Given the description of an element on the screen output the (x, y) to click on. 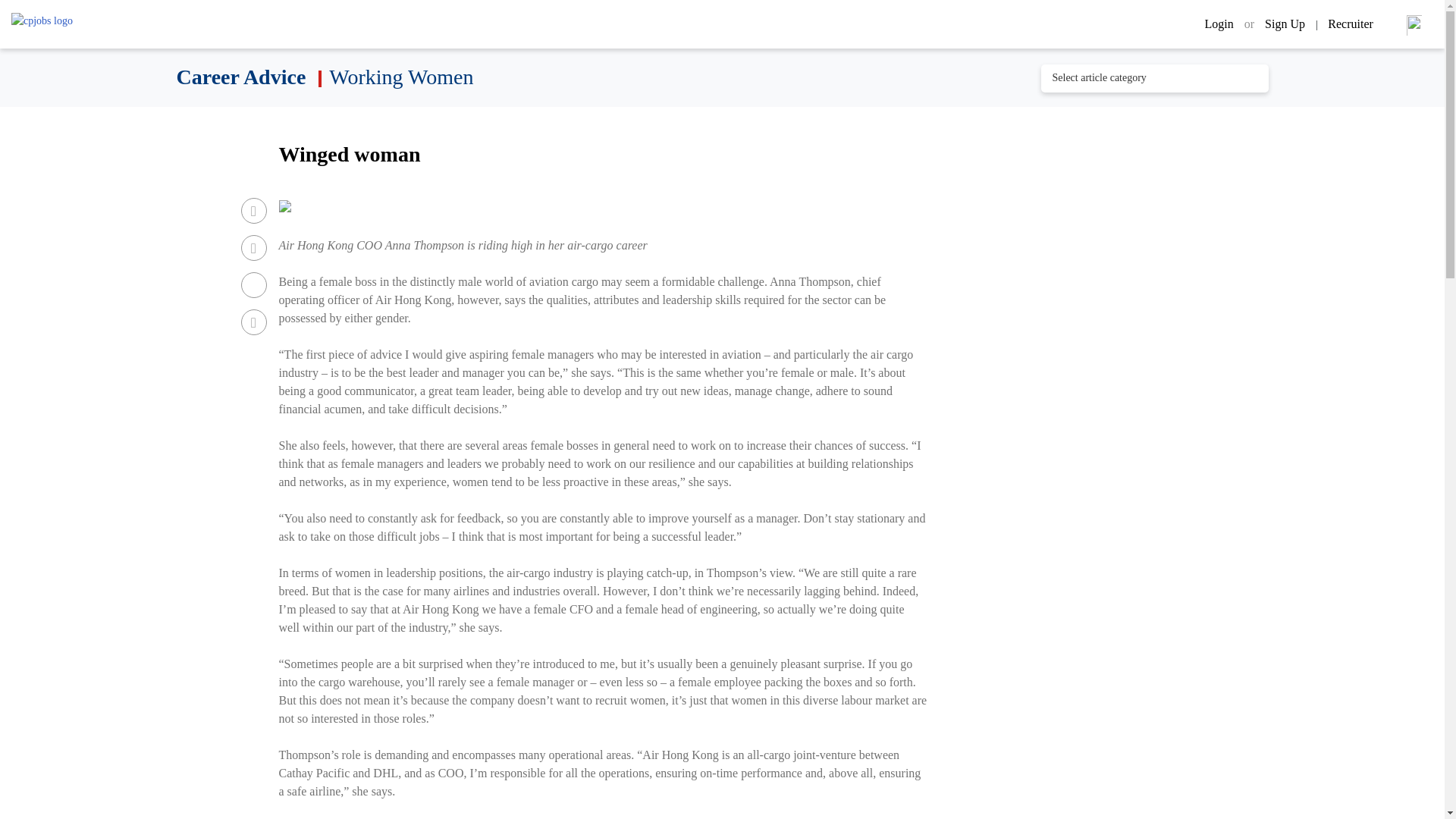
Sign Up (1286, 23)
Recruiter (1350, 23)
Career Advice (243, 76)
Login (1220, 23)
Working Women (401, 76)
